Given the description of an element on the screen output the (x, y) to click on. 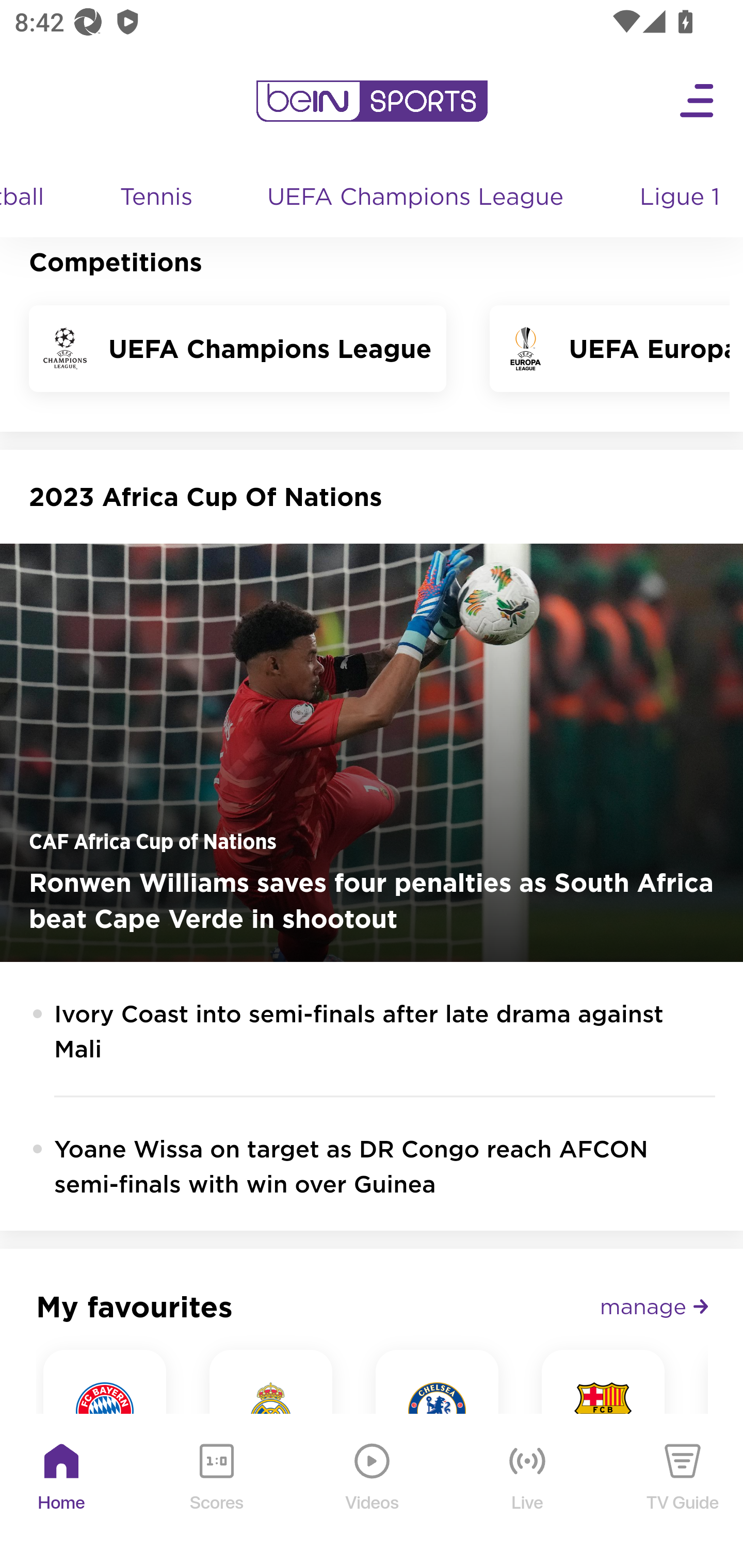
en-my?platform=mobile_android bein logo (371, 101)
Open Menu Icon (697, 101)
Tennis (157, 198)
UEFA Champions League (417, 198)
Ligue 1 (681, 198)
Manage redirection icon arrow (654, 1307)
Home Home Icon Home (61, 1492)
Scores Scores Icon Scores (216, 1492)
Videos Videos Icon Videos (372, 1492)
TV Guide TV Guide Icon TV Guide (682, 1492)
